Given the description of an element on the screen output the (x, y) to click on. 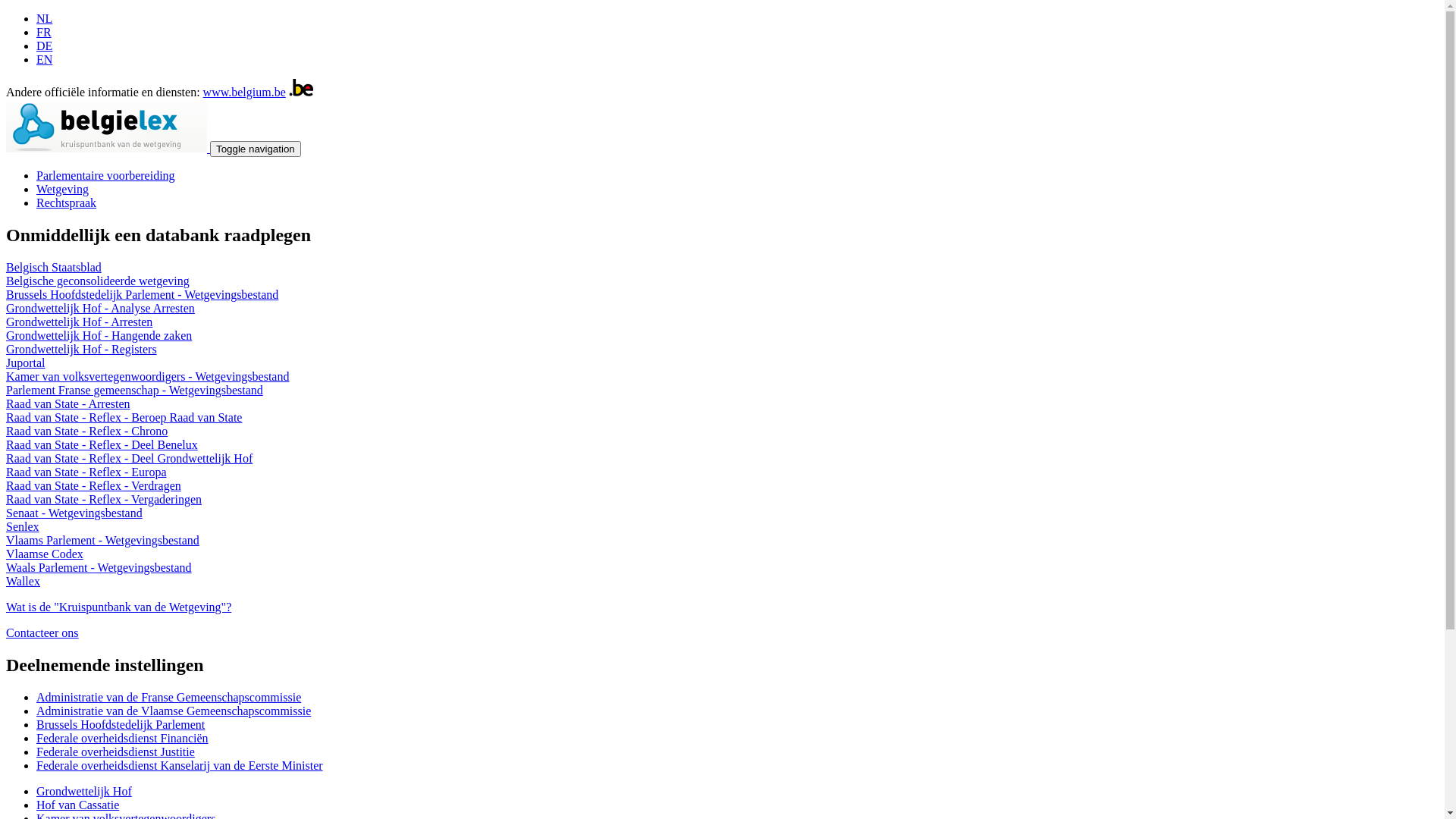
Home Element type: hover (108, 147)
Wat is de "Kruispuntbank van de Wetgeving"? Element type: text (118, 606)
Overslaan en naar de inhoud gaan Element type: text (88, 12)
Parlementaire voorbereiding Element type: text (105, 175)
DE Element type: text (44, 45)
Belgisch Staatsblad Element type: text (53, 266)
FR Element type: text (43, 31)
Waals Parlement - Wetgevingsbestand Element type: text (98, 567)
Wetgeving Element type: text (62, 188)
Kamer van volksvertegenwoordigers - Wetgevingsbestand Element type: text (147, 376)
Raad van State - Reflex - Europa Element type: text (86, 471)
Rechtspraak Element type: text (66, 202)
Parlement Franse gemeenschap - Wetgevingsbestand Element type: text (134, 389)
Raad van State - Reflex - Verdragen Element type: text (93, 485)
EN Element type: text (44, 59)
Grondwettelijk Hof - Arresten Element type: text (79, 321)
Vlaams Parlement - Wetgevingsbestand Element type: text (102, 539)
Contacteer ons Element type: text (42, 632)
Raad van State - Reflex - Chrono Element type: text (86, 430)
www.belgium.be Element type: text (244, 91)
Raad van State - Reflex - Deel Benelux Element type: text (101, 444)
Grondwettelijk Hof - Hangende zaken Element type: text (98, 335)
Administratie van de Vlaamse Gemeenschapscommissie Element type: text (173, 710)
Juportal Element type: text (25, 362)
NL Element type: text (44, 18)
Wallex Element type: text (23, 580)
Raad van State - Reflex - Deel Grondwettelijk Hof Element type: text (129, 457)
Grondwettelijk Hof Element type: text (83, 790)
Federale overheidsdienst Kanselarij van de Eerste Minister Element type: text (179, 765)
Toggle navigation Element type: text (255, 148)
Grondwettelijk Hof - Analyse Arresten Element type: text (100, 307)
Administratie van de Franse Gemeenschapscommissie Element type: text (168, 696)
Senlex Element type: text (22, 526)
Raad van State - Arresten Element type: text (68, 403)
Brussels Hoofdstedelijk Parlement - Wetgevingsbestand Element type: text (142, 294)
Belgische geconsolideerde wetgeving Element type: text (97, 280)
Raad van State - Reflex - Vergaderingen Element type: text (103, 498)
Hof van Cassatie Element type: text (77, 804)
Federale overheidsdienst Justitie Element type: text (115, 751)
Grondwettelijk Hof - Registers Element type: text (81, 348)
Raad van State - Reflex - Beroep Raad van State Element type: text (123, 417)
Senaat - Wetgevingsbestand Element type: text (74, 512)
Vlaamse Codex Element type: text (44, 553)
Brussels Hoofdstedelijk Parlement Element type: text (120, 724)
